Given the description of an element on the screen output the (x, y) to click on. 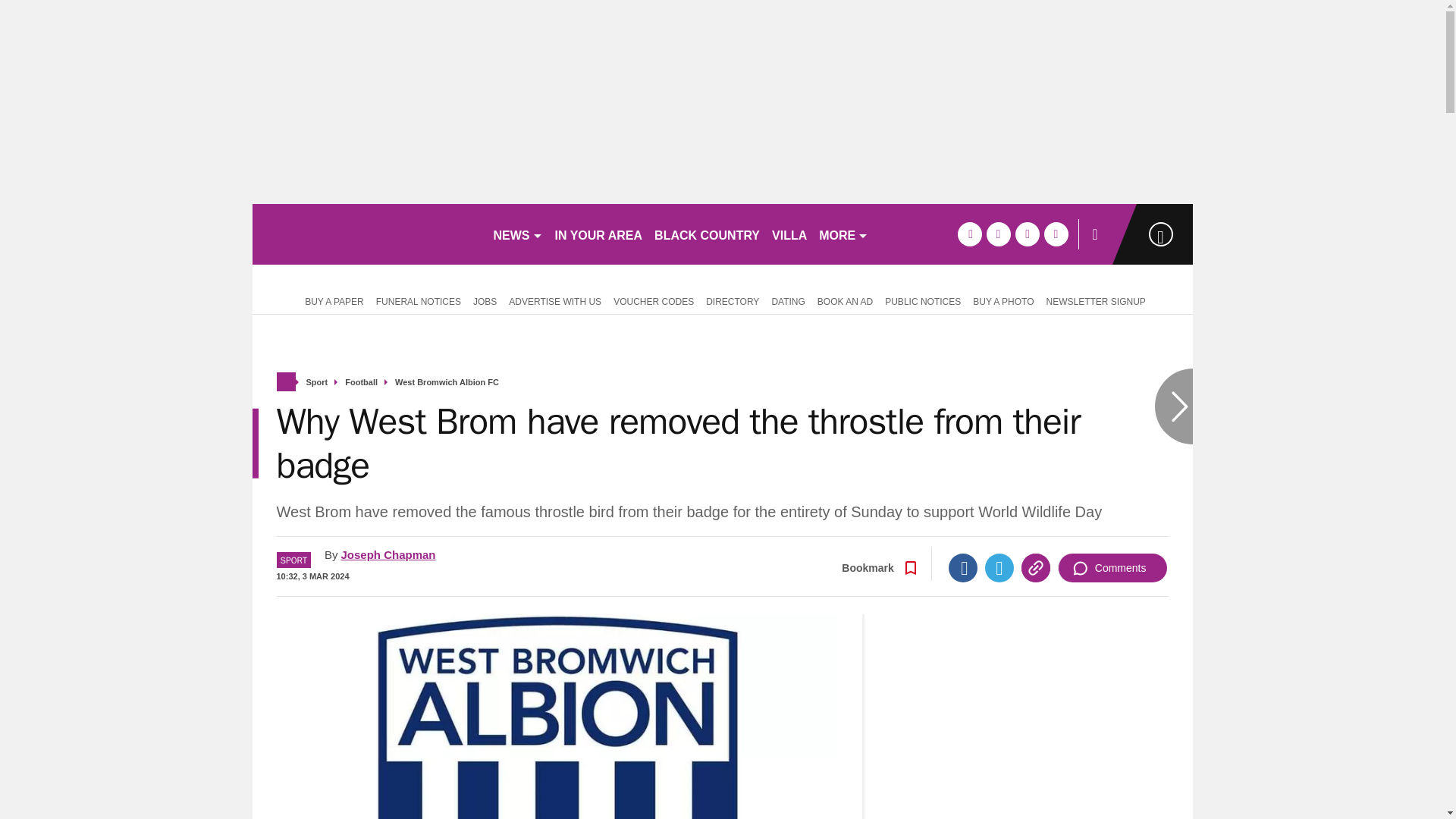
IN YOUR AREA (598, 233)
tiktok (1026, 233)
Facebook (962, 567)
NEWS (517, 233)
facebook (968, 233)
twitter (997, 233)
birminghammail (365, 233)
Twitter (999, 567)
Comments (1112, 567)
instagram (1055, 233)
BLACK COUNTRY (706, 233)
MORE (843, 233)
